Given the description of an element on the screen output the (x, y) to click on. 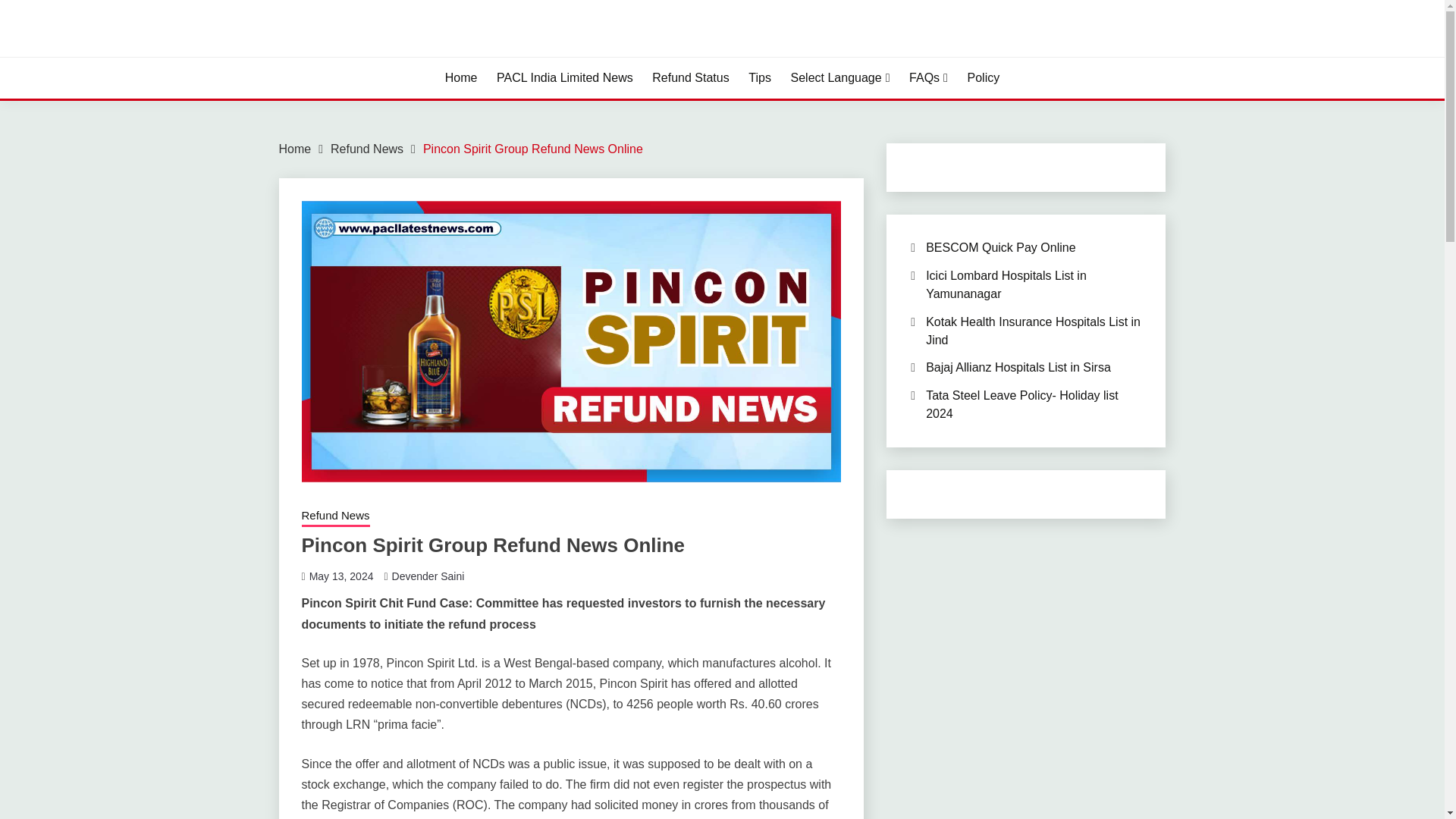
Tips (759, 77)
Select Language (839, 77)
May 13, 2024 (341, 576)
PACL India Limited News (564, 77)
Devender Saini (427, 576)
Policy (984, 77)
Home (295, 148)
FAQs (927, 77)
Home (461, 77)
Refund Status (690, 77)
Refund News (335, 516)
Pincon Spirit Group Refund News Online (533, 148)
Refund News (366, 148)
